Given the description of an element on the screen output the (x, y) to click on. 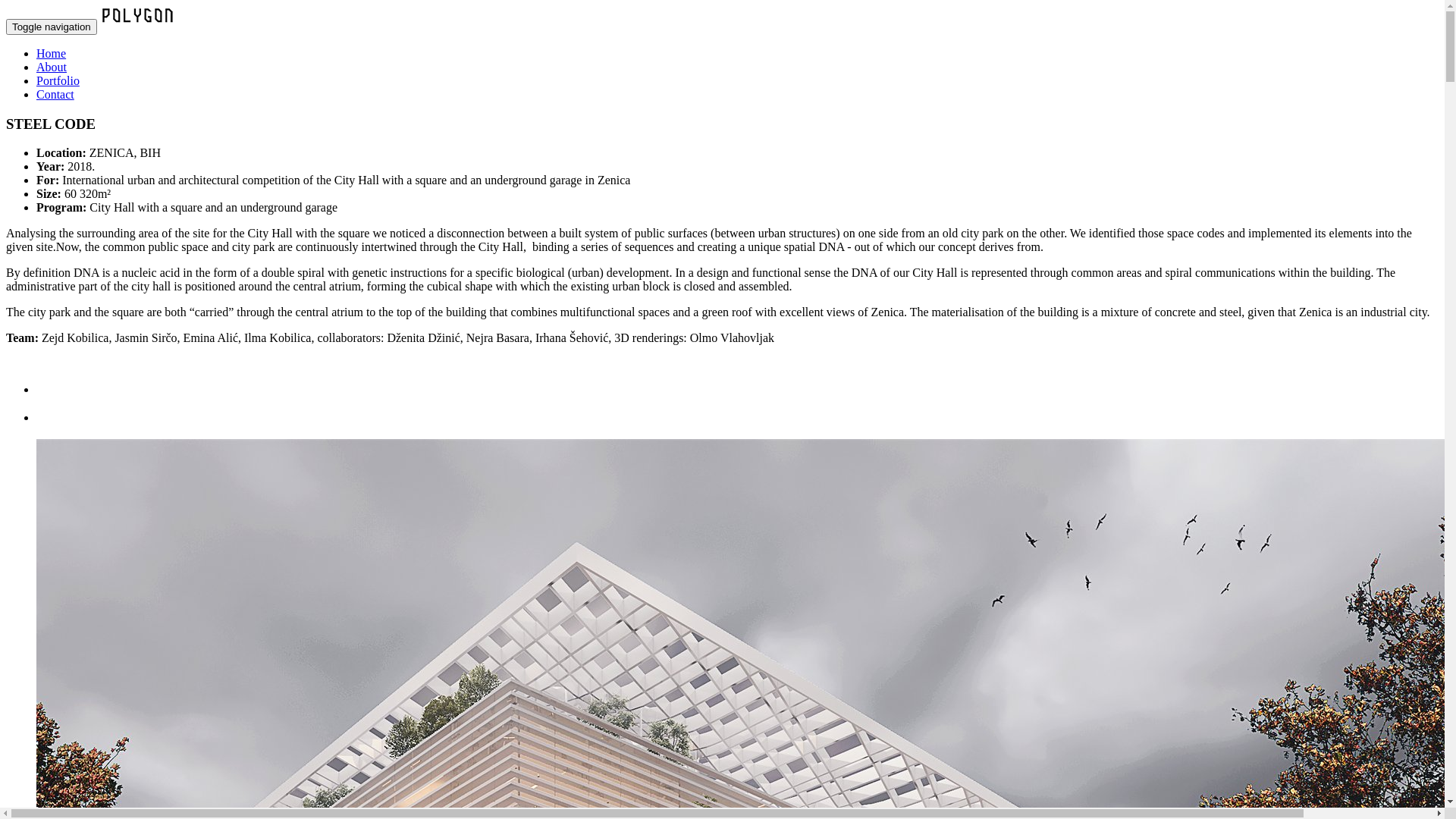
Toggle navigation Element type: text (51, 26)
About Element type: text (51, 66)
Portfolio Element type: text (57, 80)
maketa 1.jpg Element type: hover (737, 389)
Home Element type: text (50, 53)
Contact Element type: text (55, 93)
8.jpg Element type: hover (737, 417)
